Given the description of an element on the screen output the (x, y) to click on. 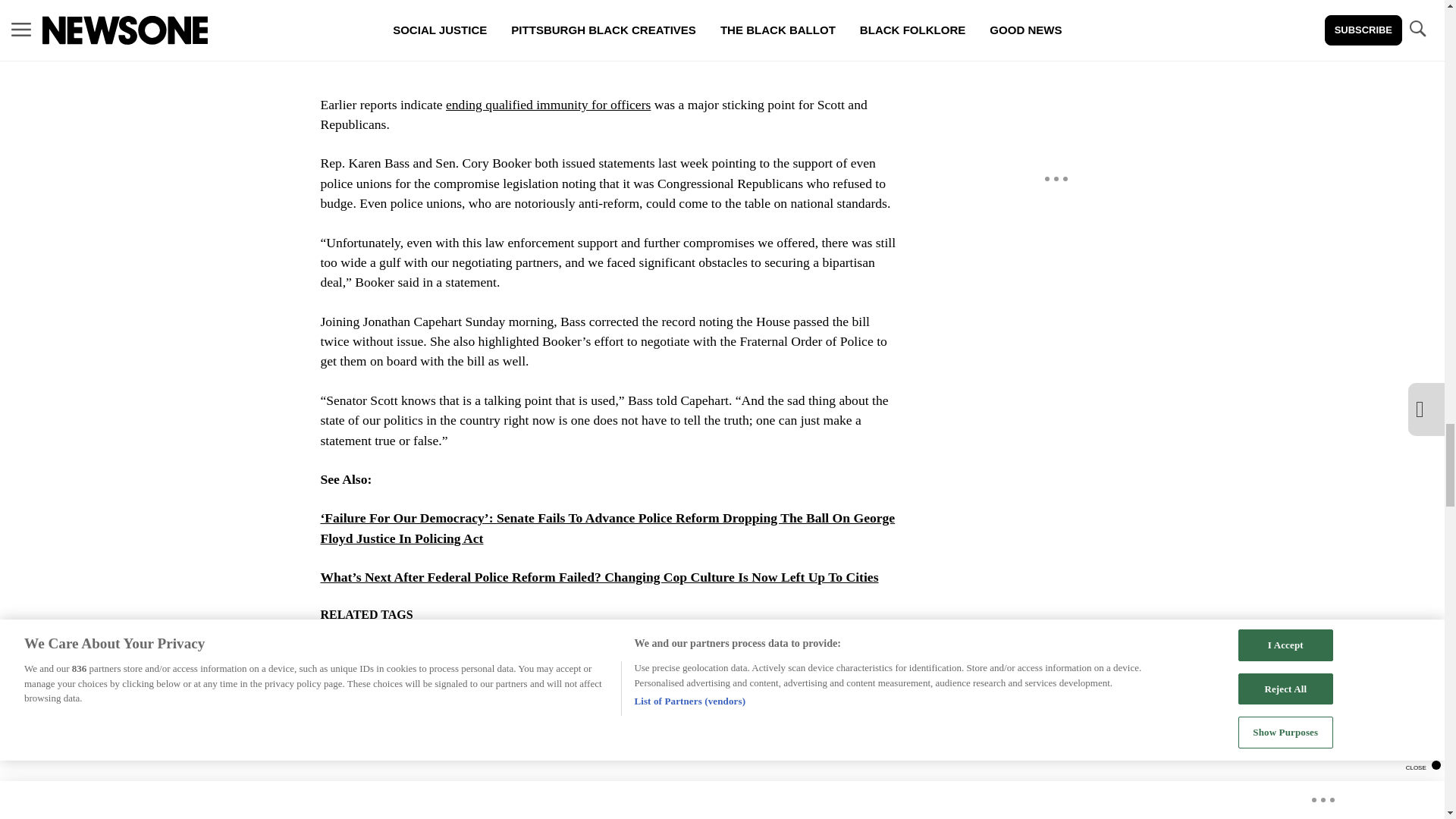
POLICING-REFORM (477, 688)
ending qualified immunity for officers (547, 104)
SENATOR-TIME-SCOTT (546, 724)
REPRESENTATIVE-KAREN-BASS (782, 688)
Vuukle Sharebar Widget (585, 763)
SENATOR-CORY-BOOKER (395, 724)
DEFUND POLICE (443, 653)
QUALIFIED IMMUNITY (615, 688)
NEWSLETTER (365, 688)
ARTICLE (352, 653)
GEORGE FLOYD JUSTICE IN POLICING ACT (625, 653)
NEWS (779, 653)
